Given the description of an element on the screen output the (x, y) to click on. 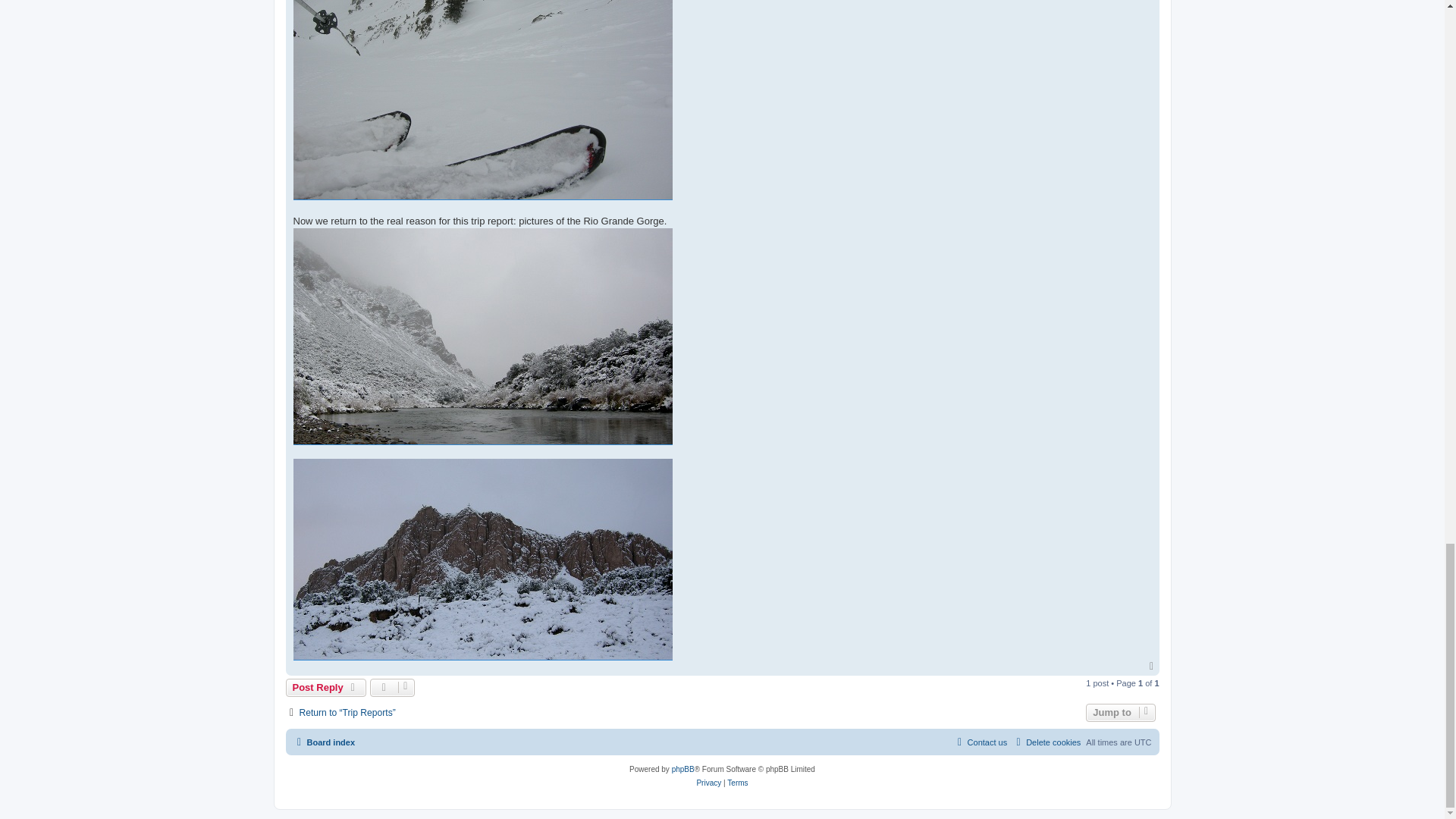
Top (1151, 665)
Post Reply (325, 687)
